Given the description of an element on the screen output the (x, y) to click on. 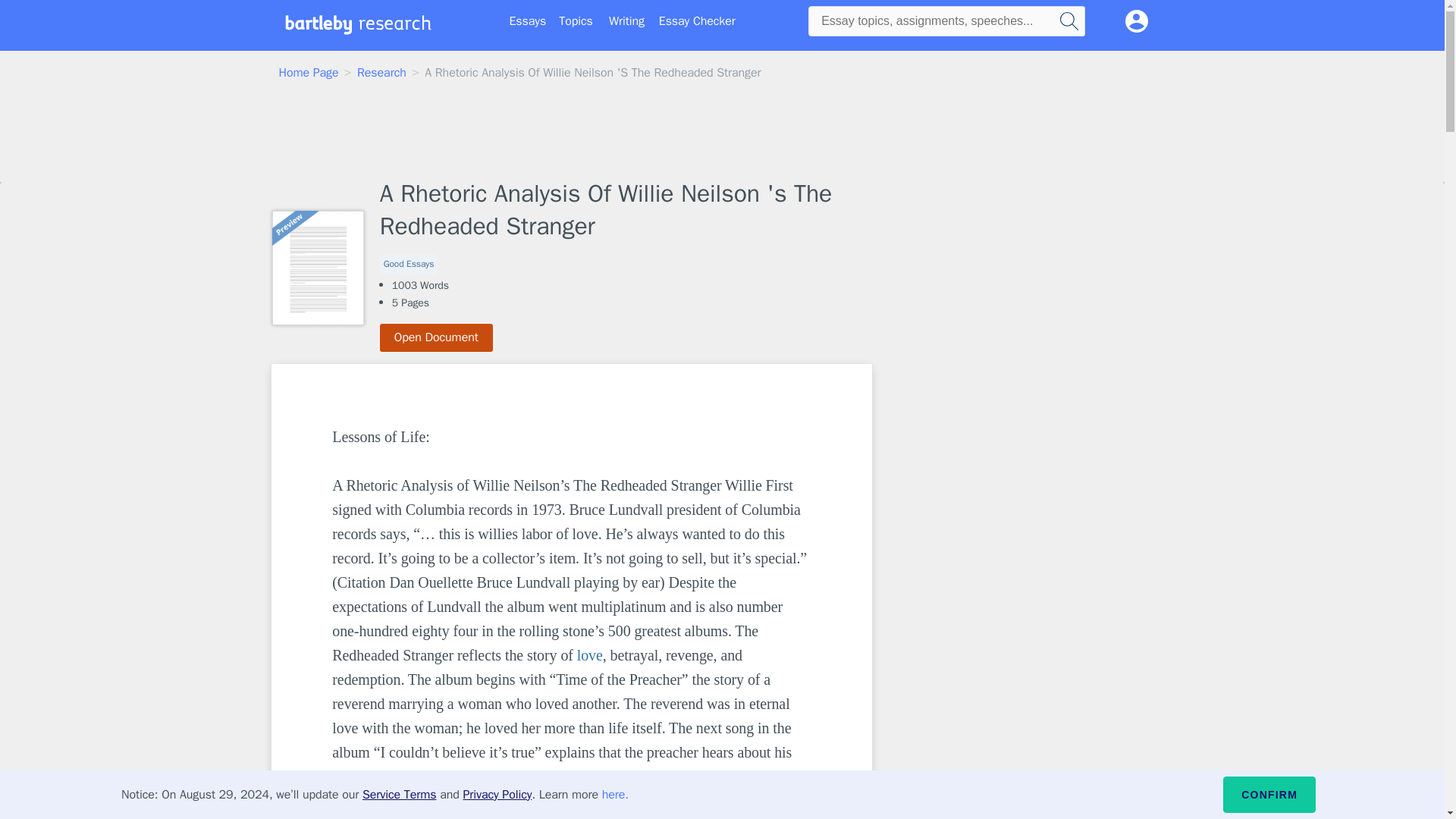
Home Page (309, 72)
Writing (626, 20)
Open Document (436, 337)
Topics (575, 20)
Essays (528, 20)
love (589, 655)
Essay Checker (697, 20)
Research (381, 72)
